Given the description of an element on the screen output the (x, y) to click on. 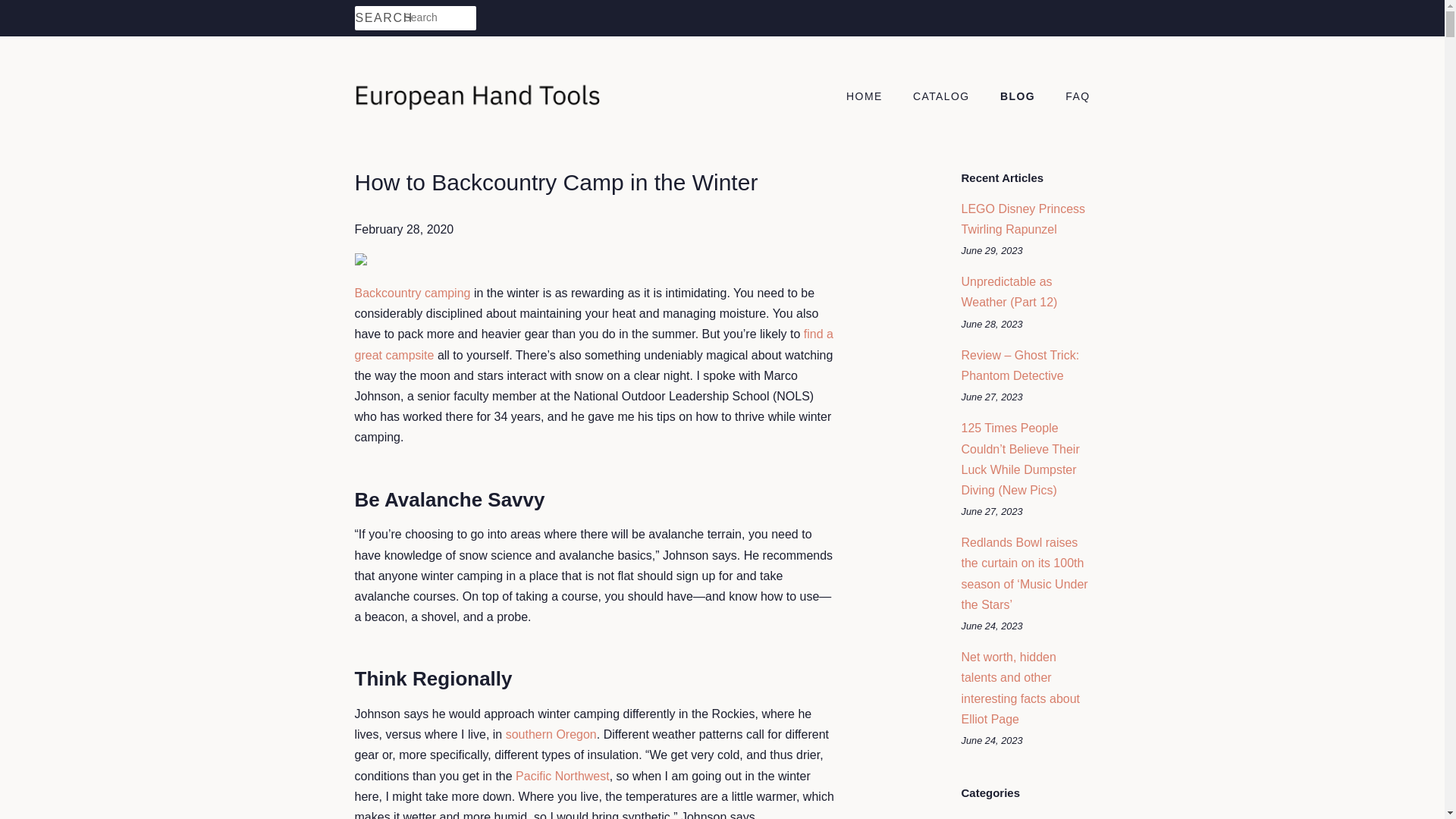
Show articles tagged 002 (970, 818)
BLOG (1018, 96)
FAQ (1071, 96)
SEARCH (379, 18)
southern Oregon (550, 734)
LEGO Disney Princess Twirling Rapunzel (1023, 218)
HOME (871, 96)
Backcountry camping (412, 292)
Pacific Northwest (562, 775)
CATALOG (943, 96)
002 (970, 818)
find a great campsite (593, 344)
